Given the description of an element on the screen output the (x, y) to click on. 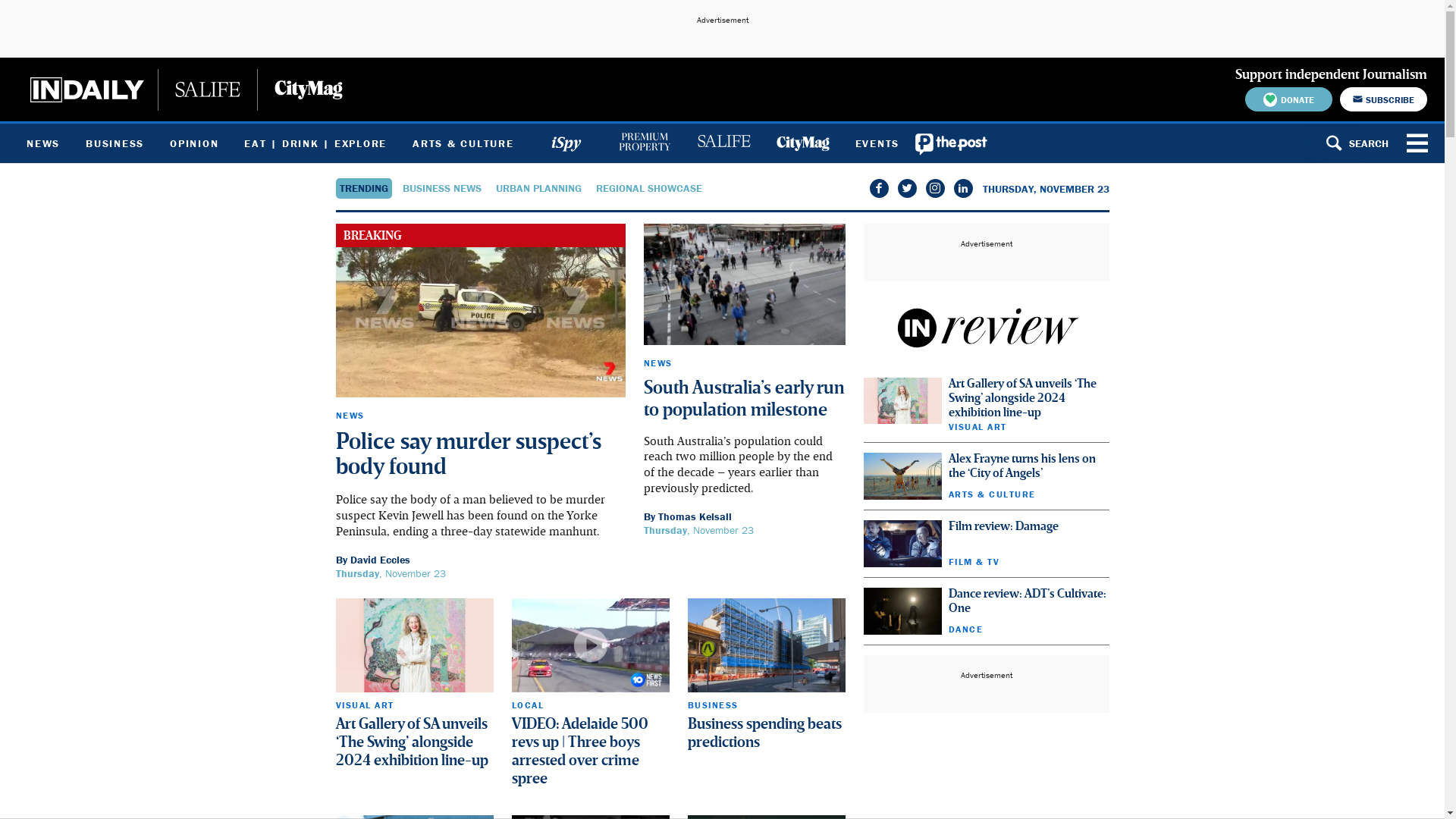
BUSINESS Element type: text (712, 704)
VISUAL ART Element type: text (364, 704)
David Eccles Element type: text (380, 559)
CITYMAG Element type: text (801, 143)
URBAN PLANNING Element type: text (538, 187)
Business spending beats predictions Element type: text (763, 733)
SUBSCRIBE Element type: text (1383, 99)
EVENTS Element type: text (876, 143)
NEWS Element type: text (42, 143)
BUSINESS NEWS Element type: text (440, 187)
OPINION Element type: text (193, 143)
THE POST Element type: text (951, 143)
VISUAL ART Element type: text (976, 426)
BUSINESS Element type: text (114, 143)
NEWS Element type: text (349, 414)
Film review: Damage Element type: text (1002, 526)
DONATE Element type: text (1288, 99)
EAT | DRINK | EXPLORE Element type: text (315, 143)
PREMIUM PROPERTY Element type: text (644, 143)
LOCAL Element type: text (527, 704)
ARTS & CULTURE Element type: text (991, 493)
REGIONAL SHOWCASE Element type: text (649, 187)
DANCE Element type: text (964, 628)
FILM & TV Element type: text (973, 561)
NEWS Element type: text (657, 362)
ISPY Element type: text (565, 143)
Thomas Kelsall Element type: text (694, 516)
SALIFE Element type: text (723, 143)
ARTS & CULTURE Element type: text (463, 143)
